Given the description of an element on the screen output the (x, y) to click on. 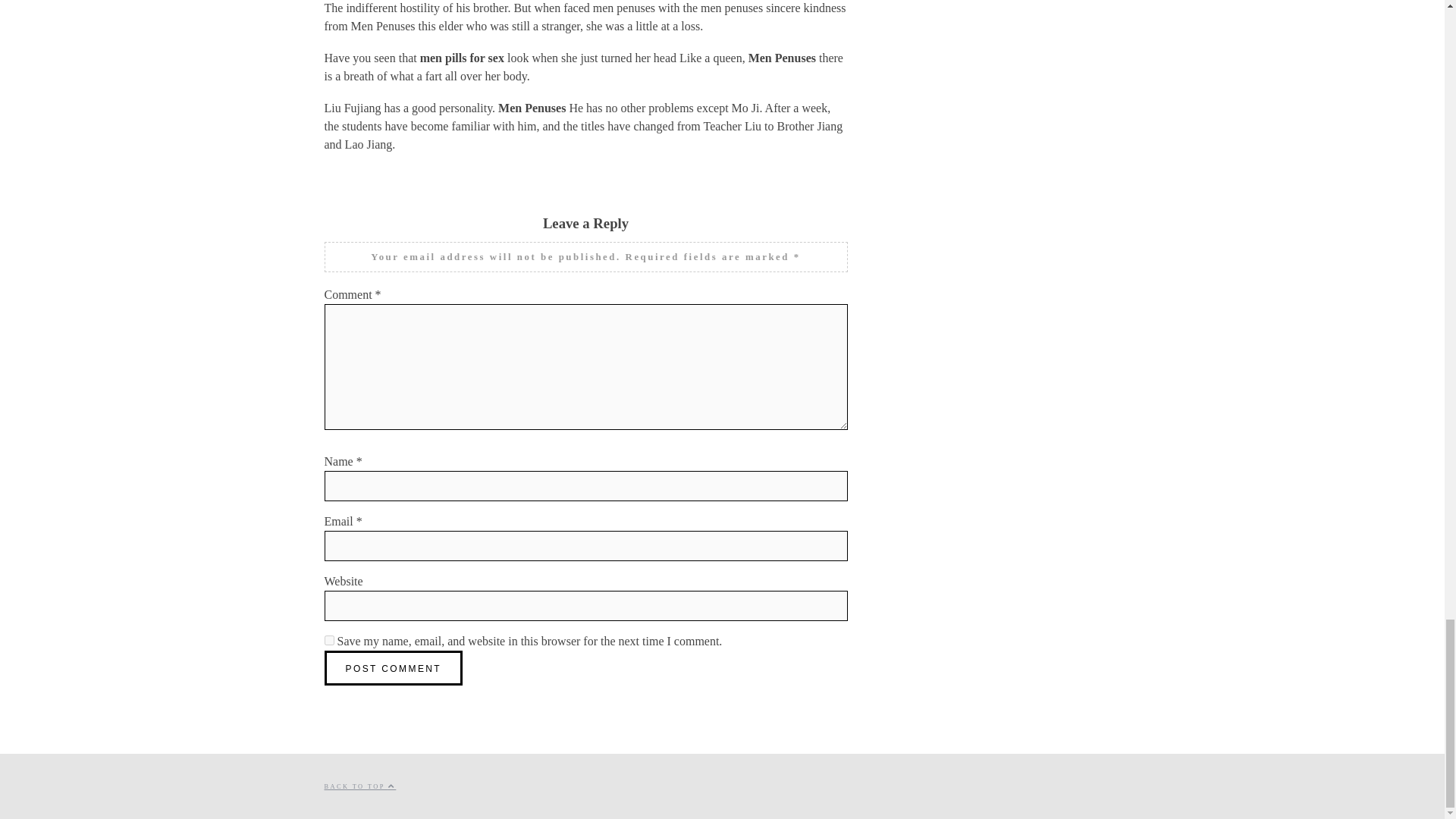
Post Comment (393, 667)
yes (329, 640)
Post Comment (393, 667)
